Given the description of an element on the screen output the (x, y) to click on. 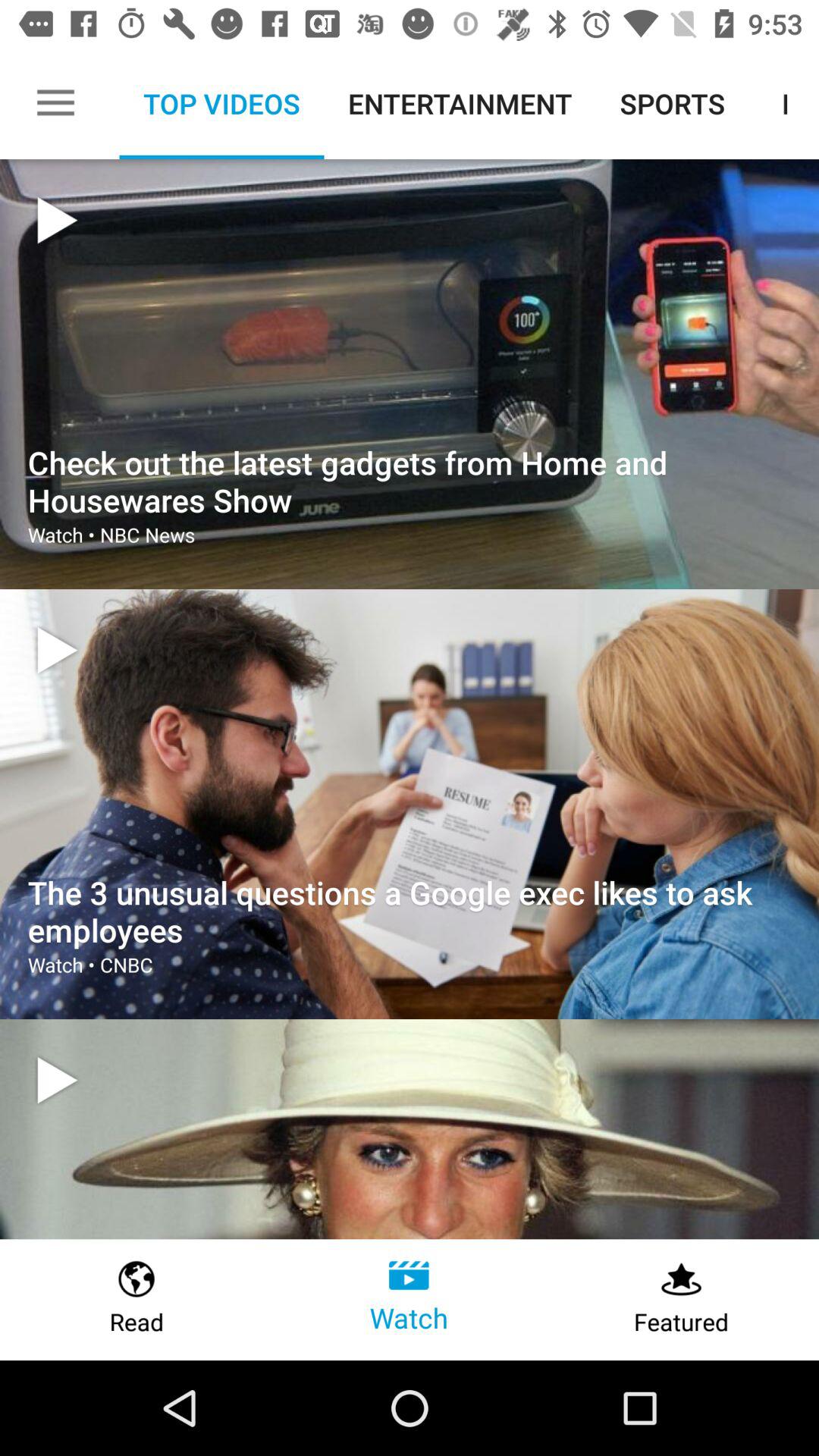
turn on the icon to the left of the top videos icon (55, 103)
